Given the description of an element on the screen output the (x, y) to click on. 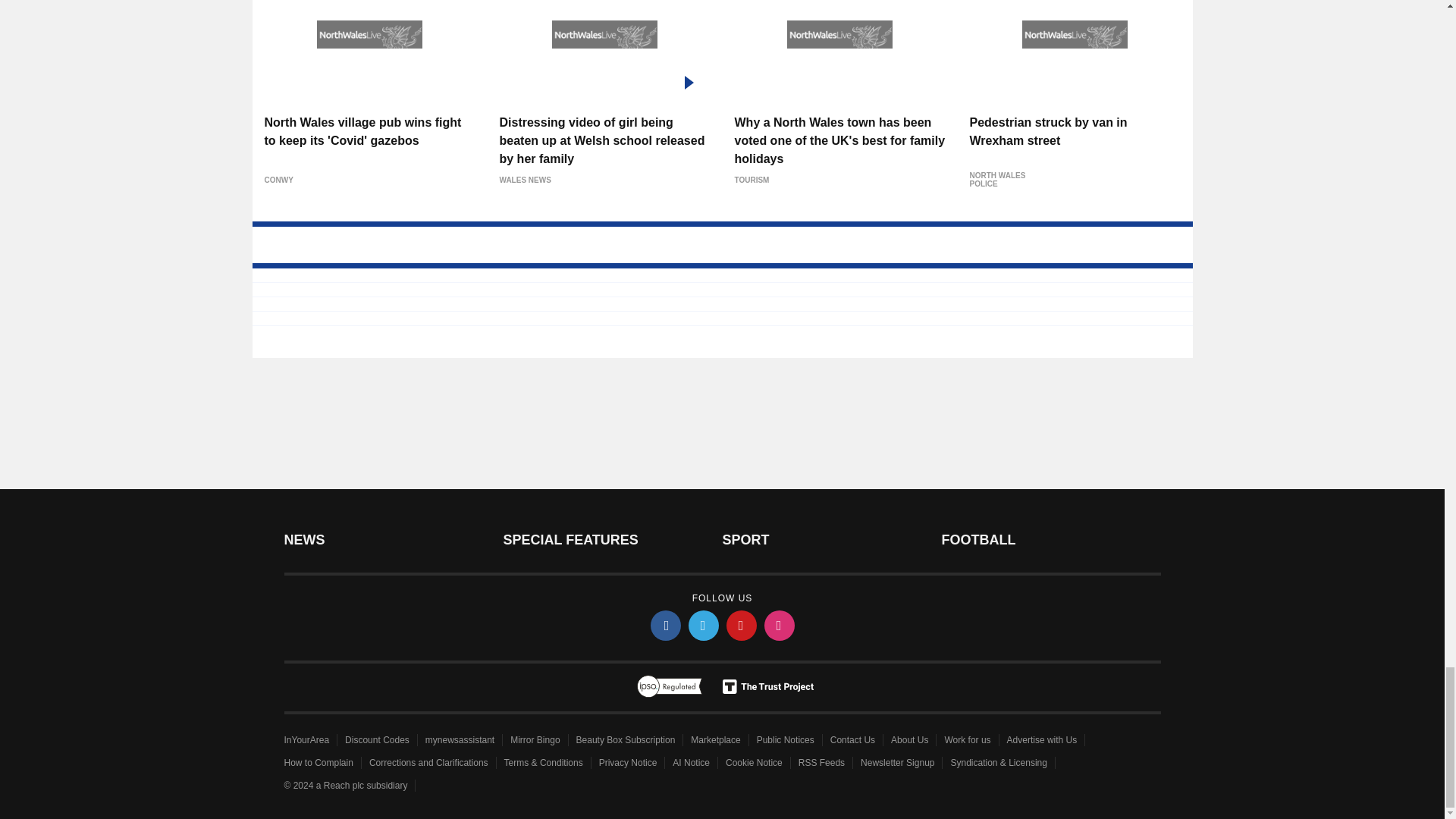
pinterest (741, 625)
facebook (665, 625)
instagram (779, 625)
twitter (703, 625)
